Given the description of an element on the screen output the (x, y) to click on. 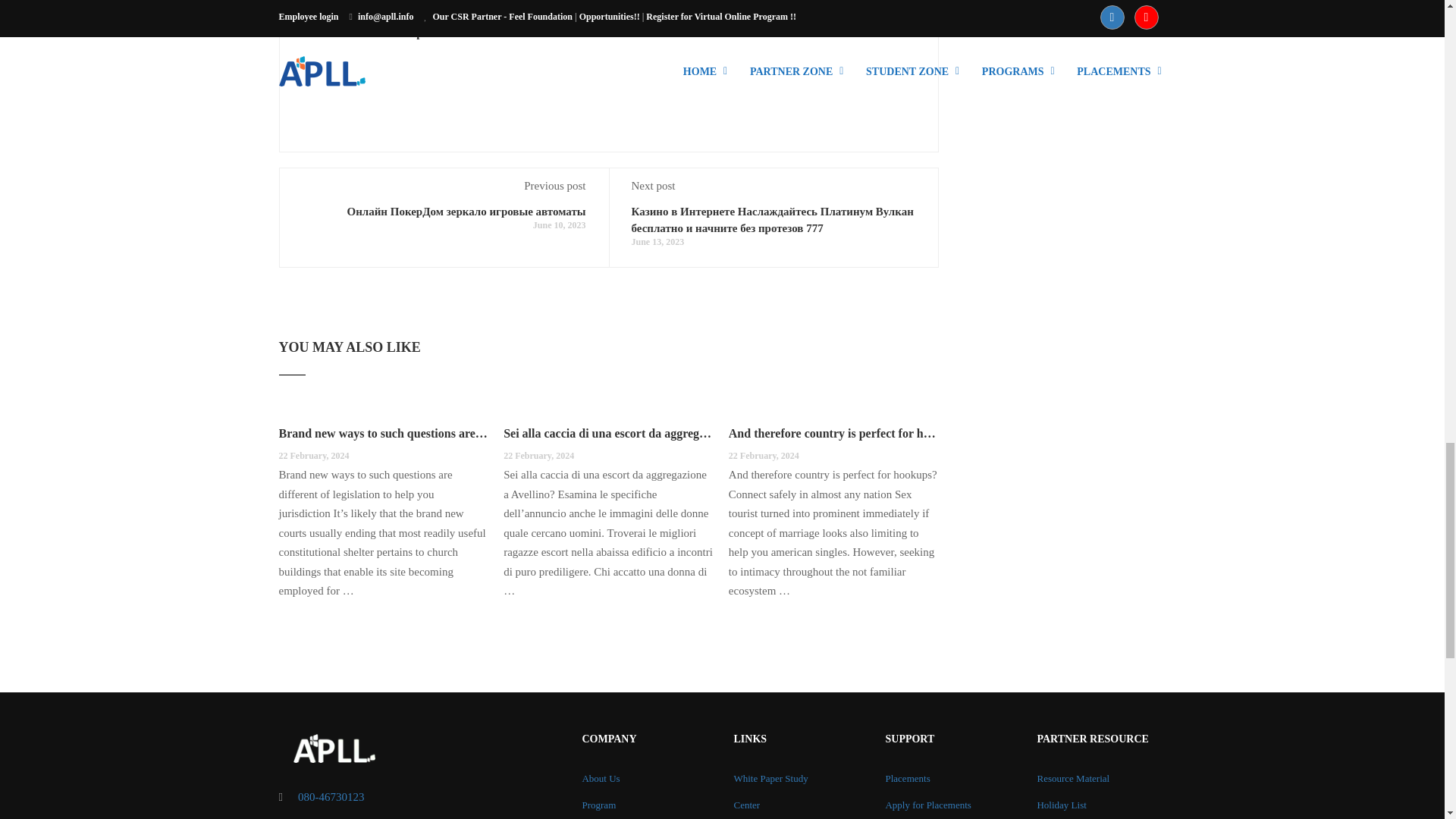
Sei alla caccia di una escort da aggregazione a Avellino? (608, 433)
